Given the description of an element on the screen output the (x, y) to click on. 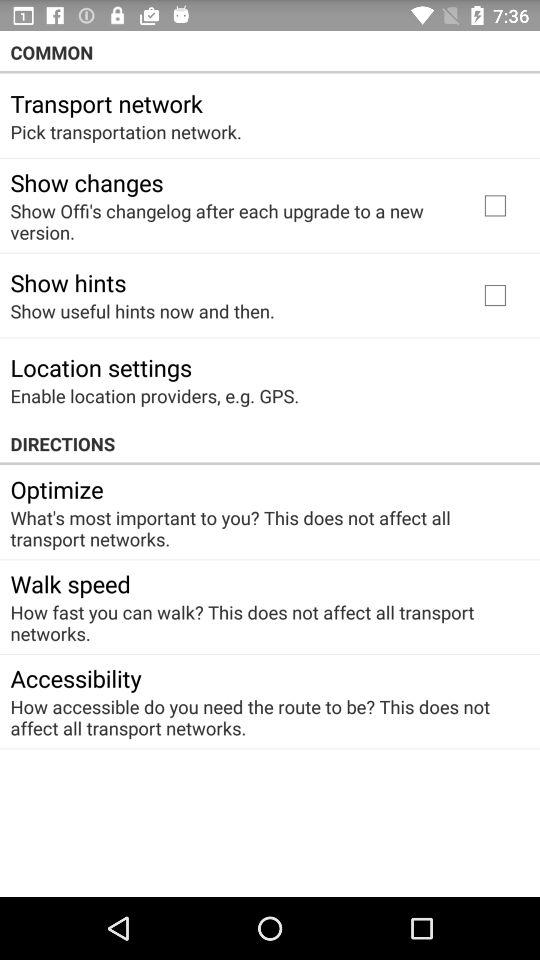
swipe until accessibility (75, 678)
